Given the description of an element on the screen output the (x, y) to click on. 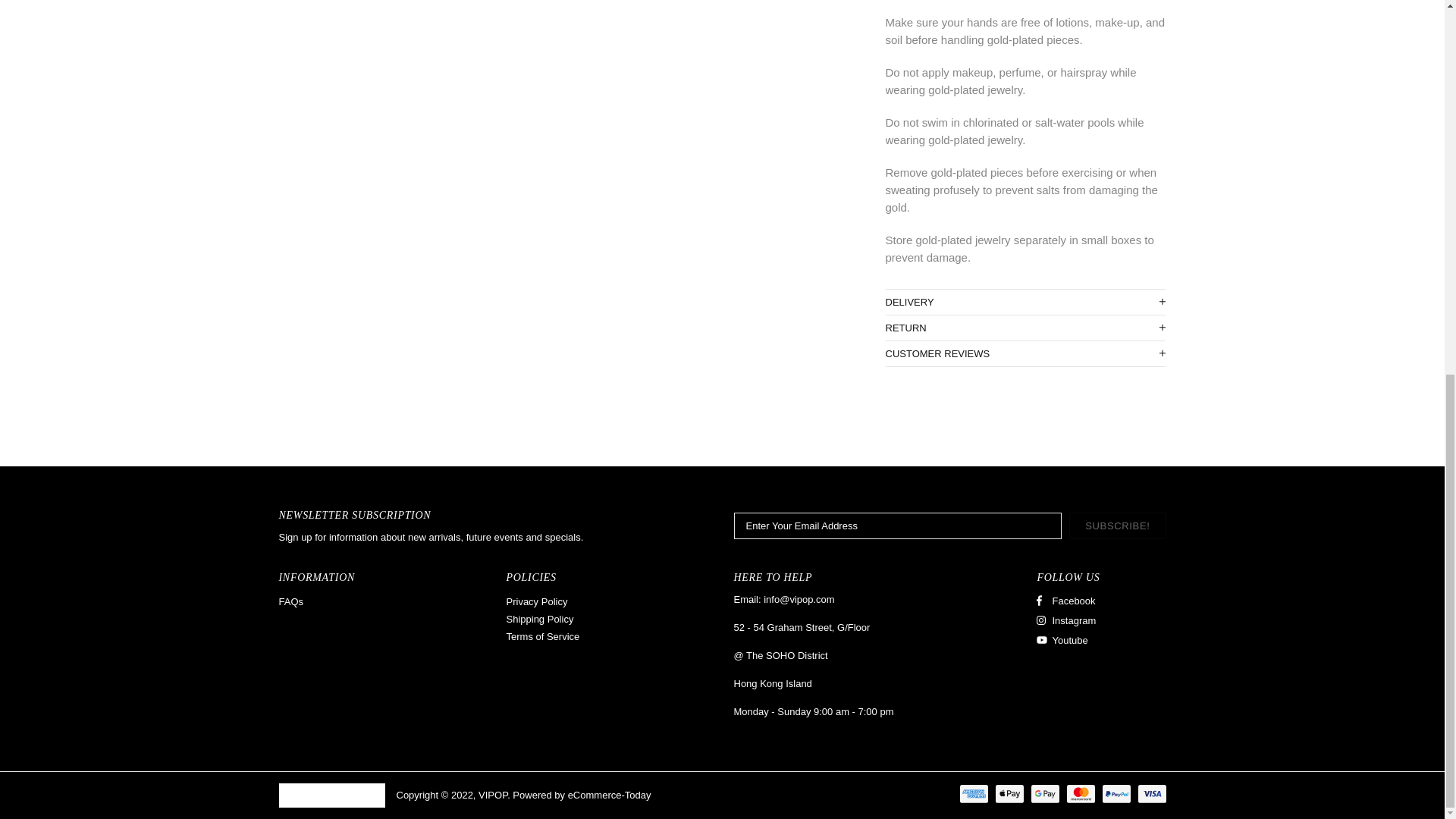
email address (798, 599)
SUBSCRIBE! (1117, 525)
eCommerce Today - Shopify Agency (608, 794)
